Given the description of an element on the screen output the (x, y) to click on. 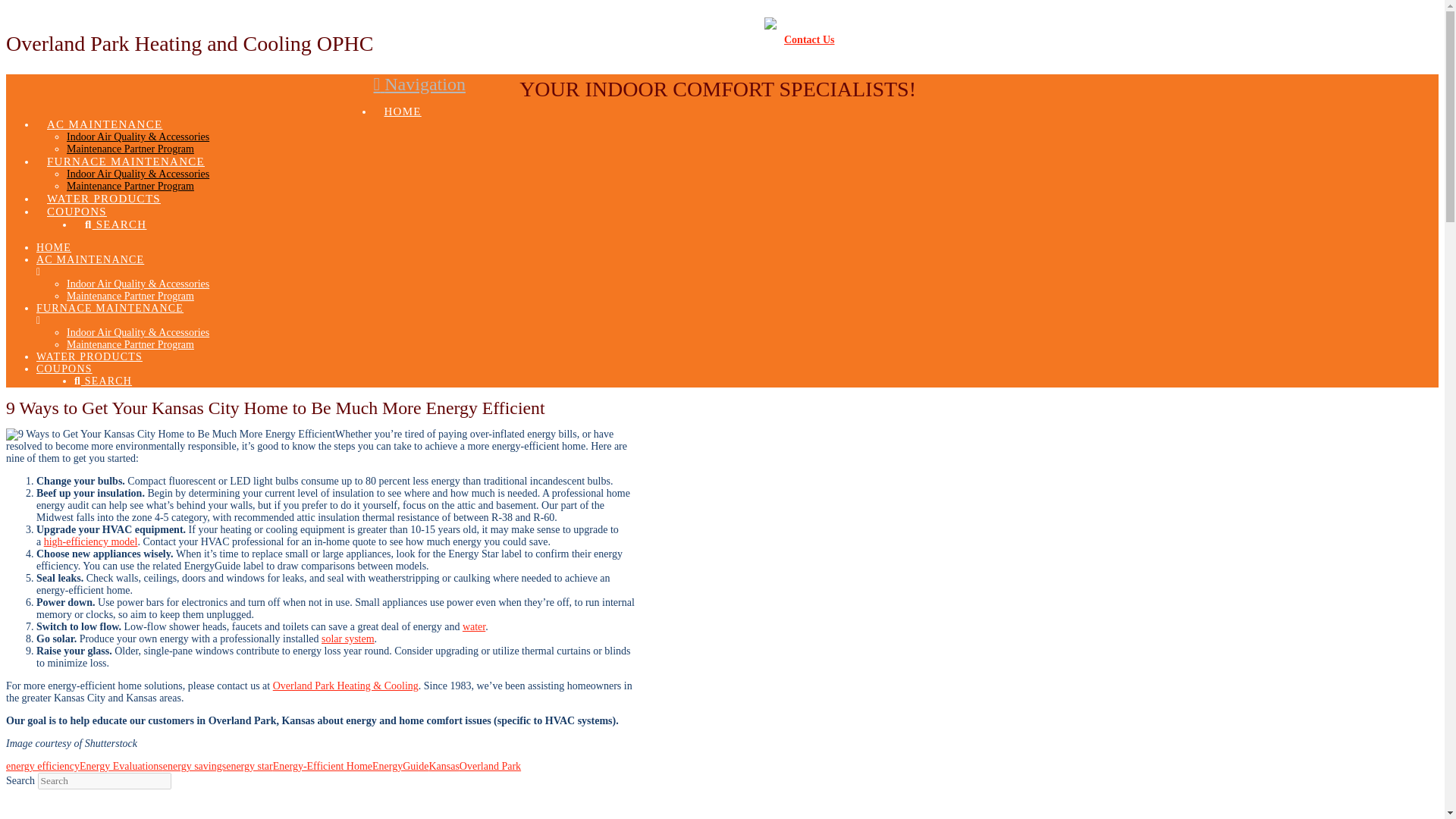
solar system (347, 638)
Maintenance Partner Program (129, 344)
HOME (53, 247)
water (473, 626)
Contact Us (809, 39)
WATER PRODUCTS (89, 356)
Energy Evaluations (121, 766)
SEARCH (114, 214)
AC MAINTENANCE (475, 265)
Maintenance Partner Program (129, 148)
COUPONS (76, 201)
energy star (249, 766)
Overland Park (490, 766)
FURNACE MAINTENANCE (475, 314)
12.10.13 (169, 434)
